Given the description of an element on the screen output the (x, y) to click on. 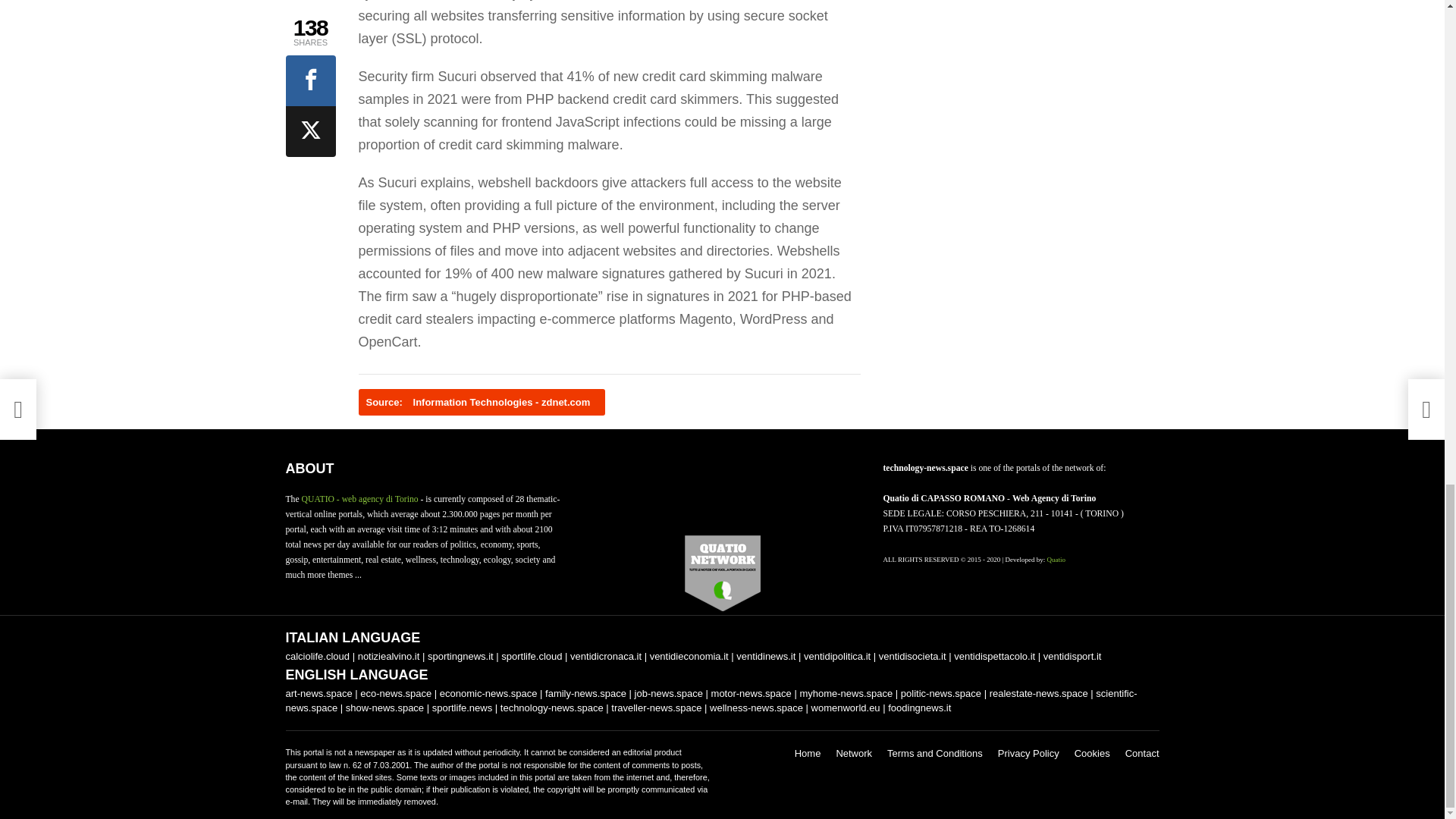
Quatio - web agency di torino (1055, 559)
QUATIO - web agency di Torino (360, 499)
